Given the description of an element on the screen output the (x, y) to click on. 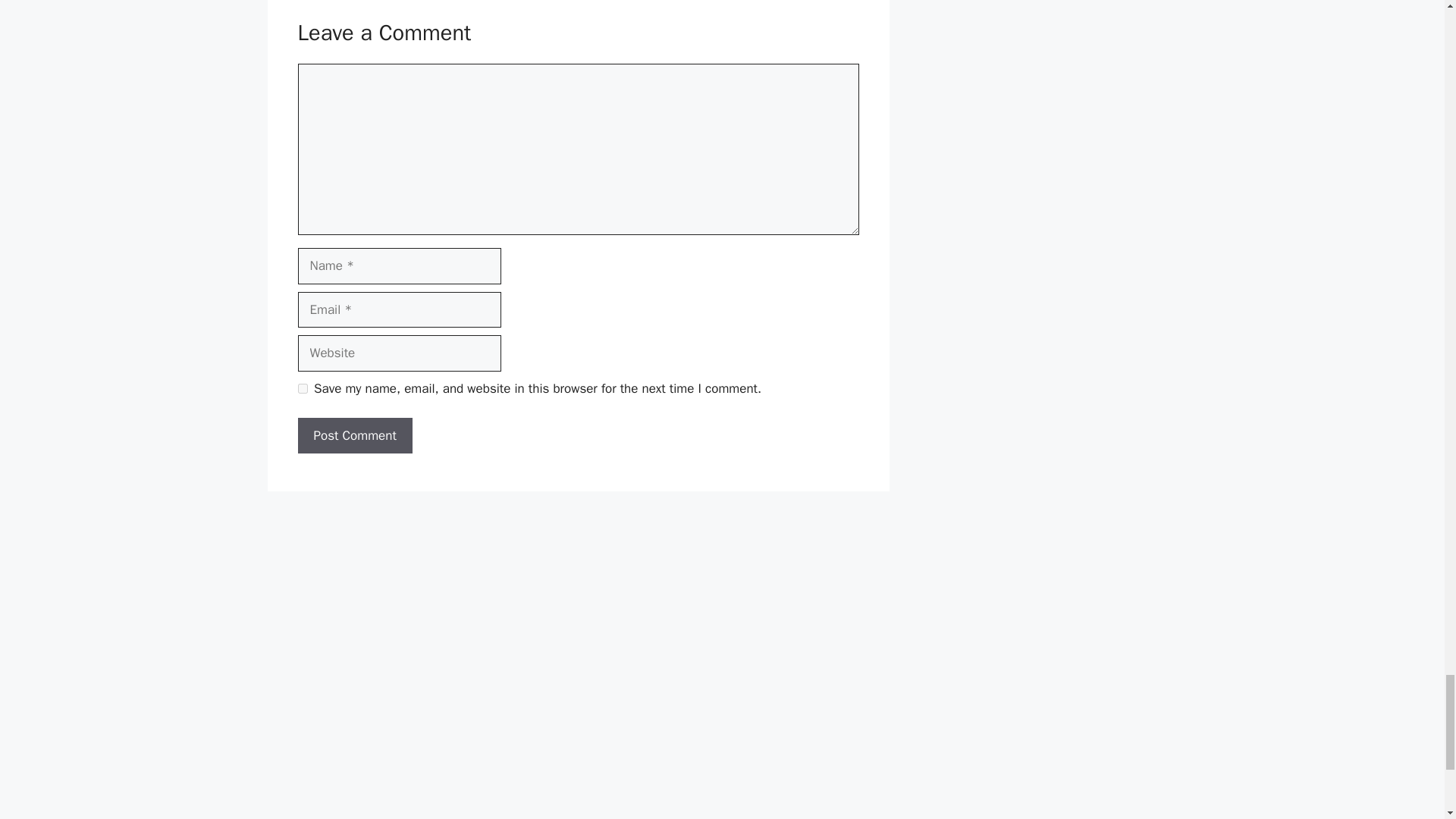
Post Comment (354, 435)
Post Comment (354, 435)
yes (302, 388)
